Given the description of an element on the screen output the (x, y) to click on. 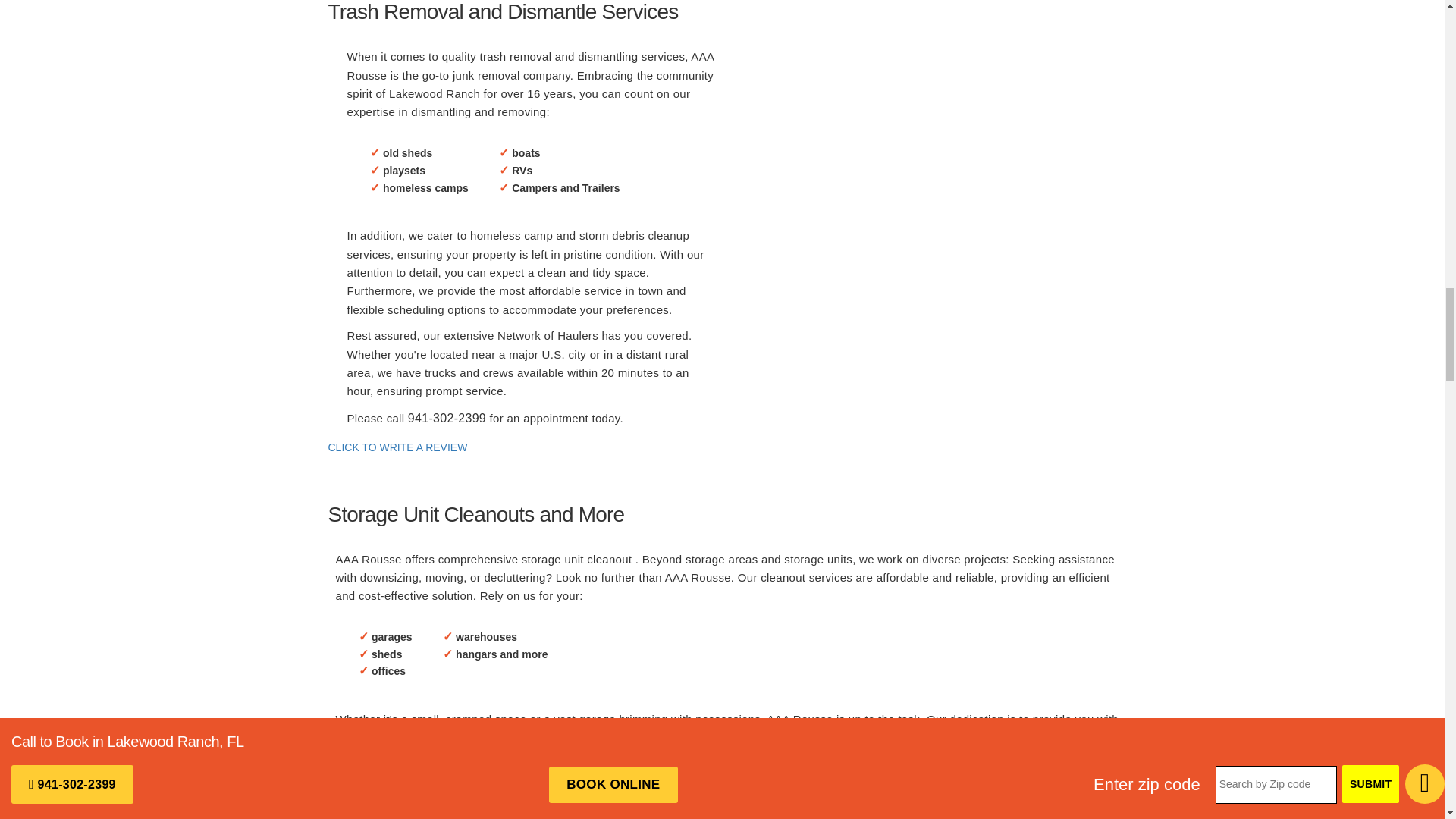
Hoarder clean out service Lakewood Ranch FL (458, 790)
Garage cleanout service Lakewood Ranch (904, 137)
CLICK TO WRITE A REVIEW (397, 447)
